Given the description of an element on the screen output the (x, y) to click on. 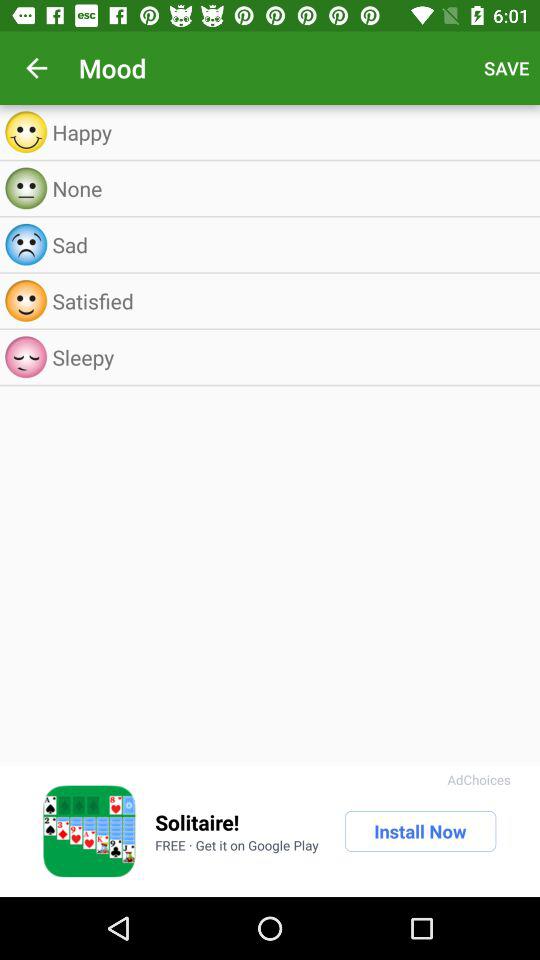
go to advertisement (89, 831)
